Given the description of an element on the screen output the (x, y) to click on. 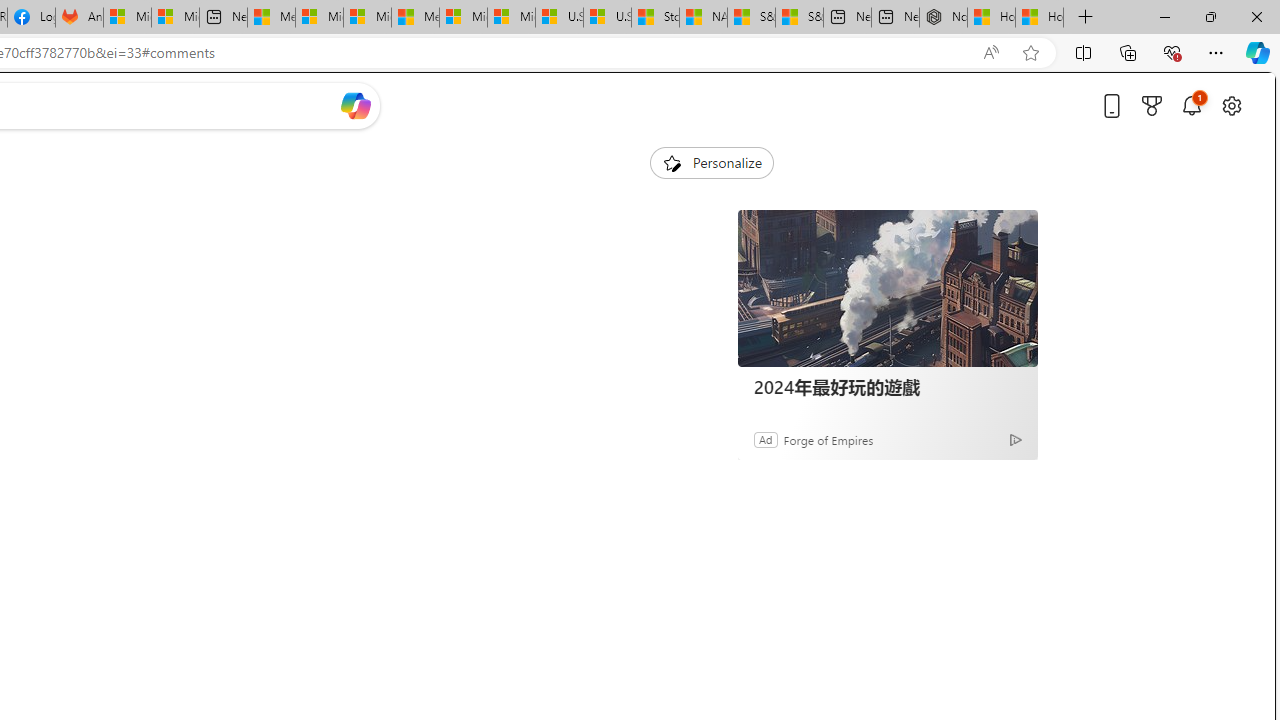
Personalize (711, 162)
S&P 500, Nasdaq end lower, weighed by Nvidia dip | Watch (799, 17)
Microsoft account | Privacy (319, 17)
